Given the description of an element on the screen output the (x, y) to click on. 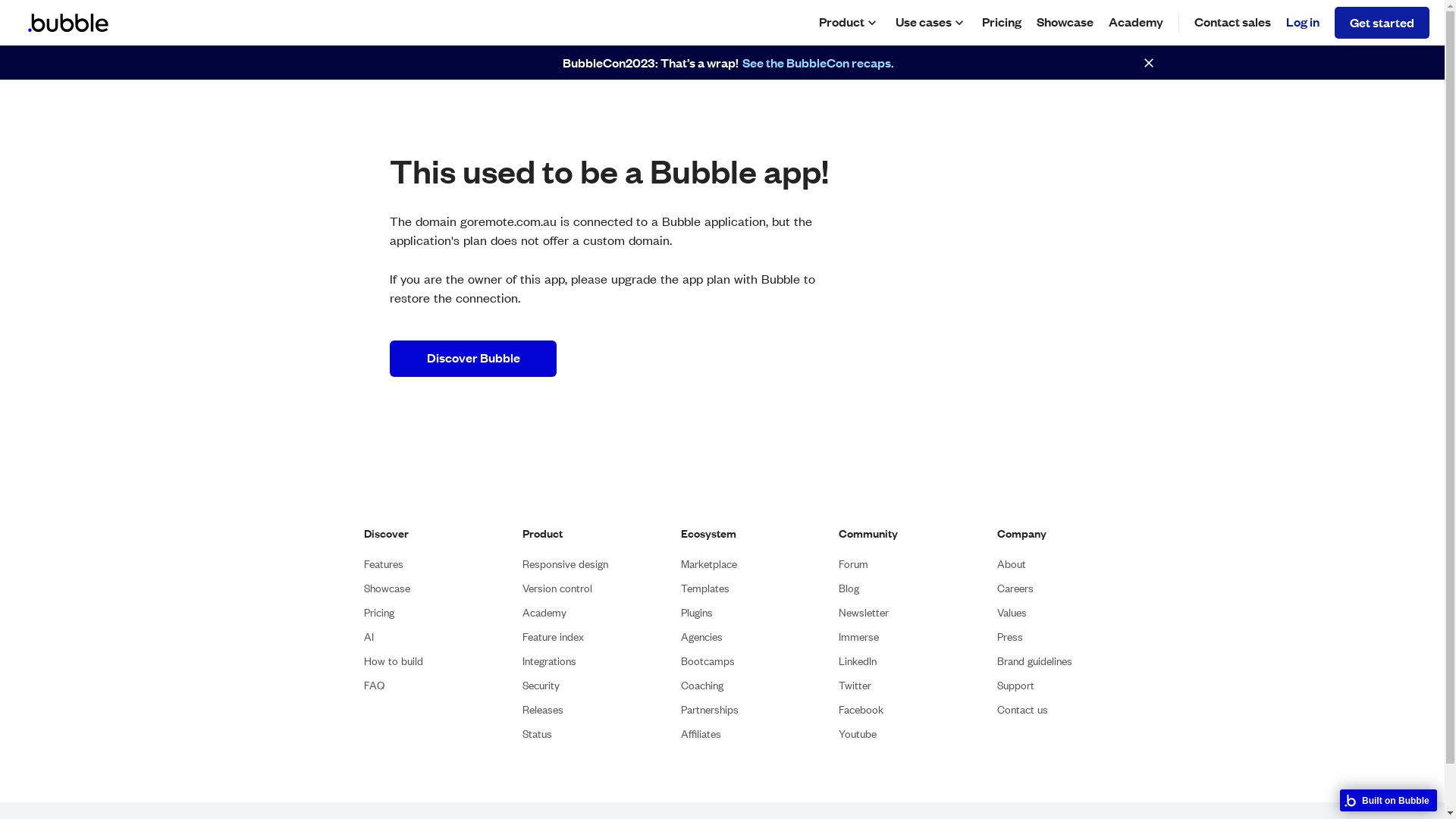
Newsletter Element type: text (863, 611)
keyboard_arrow_down Element type: text (871, 22)
Releases Element type: text (542, 708)
keyboard_arrow_down Element type: text (958, 22)
Templates Element type: text (704, 587)
Log in Element type: text (1302, 21)
Twitter Element type: text (854, 684)
Features Element type: text (383, 563)
Integrations Element type: text (549, 660)
Facebook Element type: text (860, 708)
Agencies Element type: text (701, 636)
Feature index Element type: text (552, 636)
Showcase Element type: text (387, 587)
Status Element type: text (537, 733)
Immerse Element type: text (858, 636)
Pricing Element type: text (379, 611)
AI Element type: text (368, 636)
Contact sales Element type: text (1232, 23)
Academy Element type: text (544, 611)
Contact us Element type: text (1022, 708)
About Element type: text (1011, 563)
Pricing Element type: text (1001, 23)
Marketplace Element type: text (708, 563)
Values Element type: text (1011, 611)
Affiliates Element type: text (700, 733)
Responsive design Element type: text (565, 563)
Press Element type: text (1009, 636)
Version control Element type: text (557, 587)
Get started Element type: text (1381, 22)
Careers Element type: text (1015, 587)
Brand guidelines Element type: text (1034, 660)
Academy Element type: text (1135, 23)
Youtube Element type: text (857, 733)
Forum Element type: text (853, 563)
FAQ Element type: text (374, 684)
Bootcamps Element type: text (707, 660)
Security Element type: text (540, 684)
Discover Bubble Element type: text (472, 358)
Plugins Element type: text (696, 611)
Coaching Element type: text (701, 684)
Support Element type: text (1015, 684)
Blog Element type: text (848, 587)
LinkedIn Element type: text (857, 660)
Partnerships Element type: text (709, 708)
close Element type: text (1148, 62)
Showcase Element type: text (1064, 23)
How to build Element type: text (393, 660)
